Given the description of an element on the screen output the (x, y) to click on. 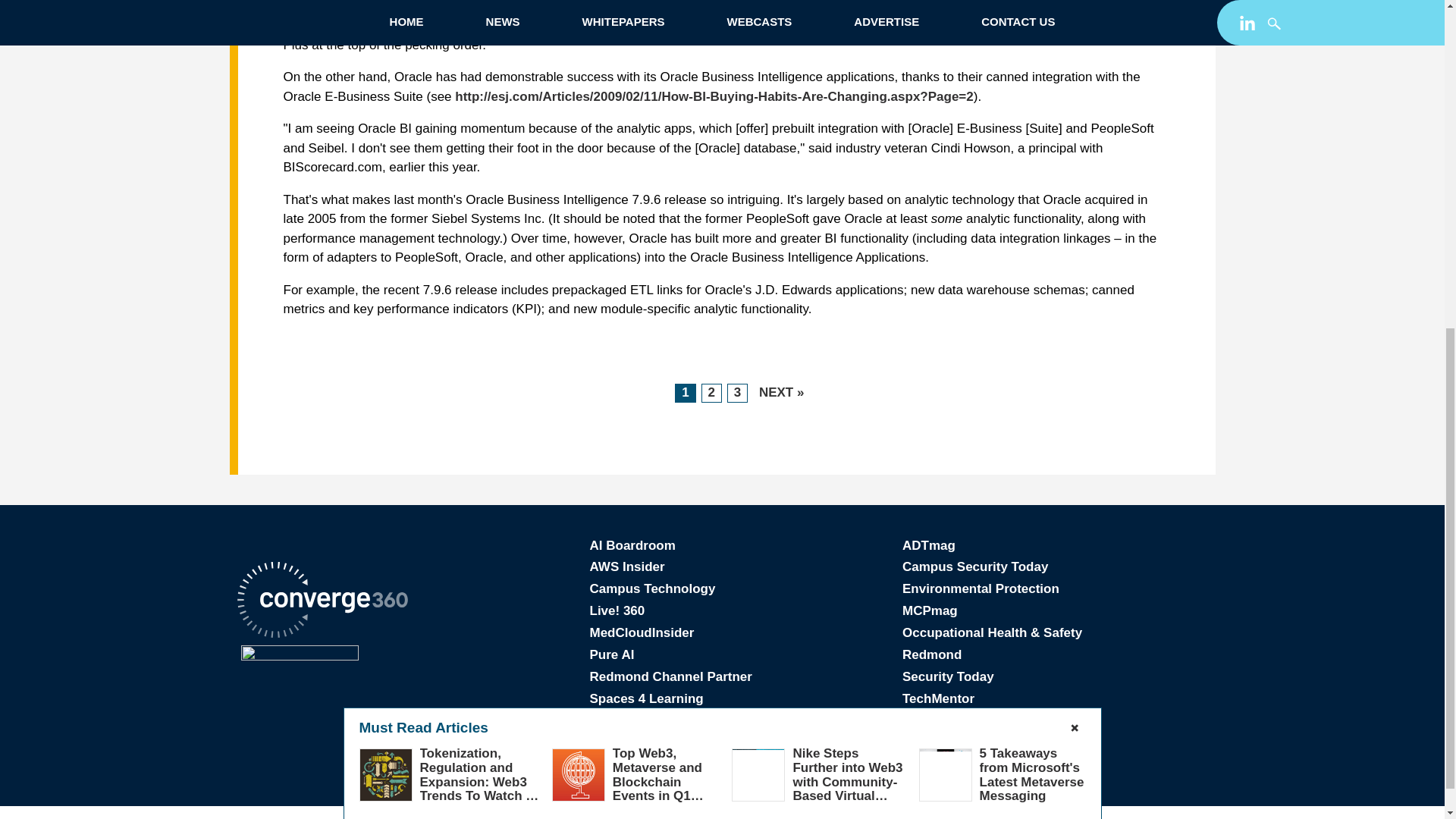
1 (685, 393)
Live! 360 (617, 610)
Environmental Protection (980, 588)
MCPmag (930, 610)
3 (737, 393)
5 Takeaways from Microsoft's Latest Metaverse Messaging (1031, 209)
2 (710, 393)
Top Web3, Metaverse and Blockchain Events in Q1 2023 (657, 216)
AI Boardroom (632, 545)
